Given the description of an element on the screen output the (x, y) to click on. 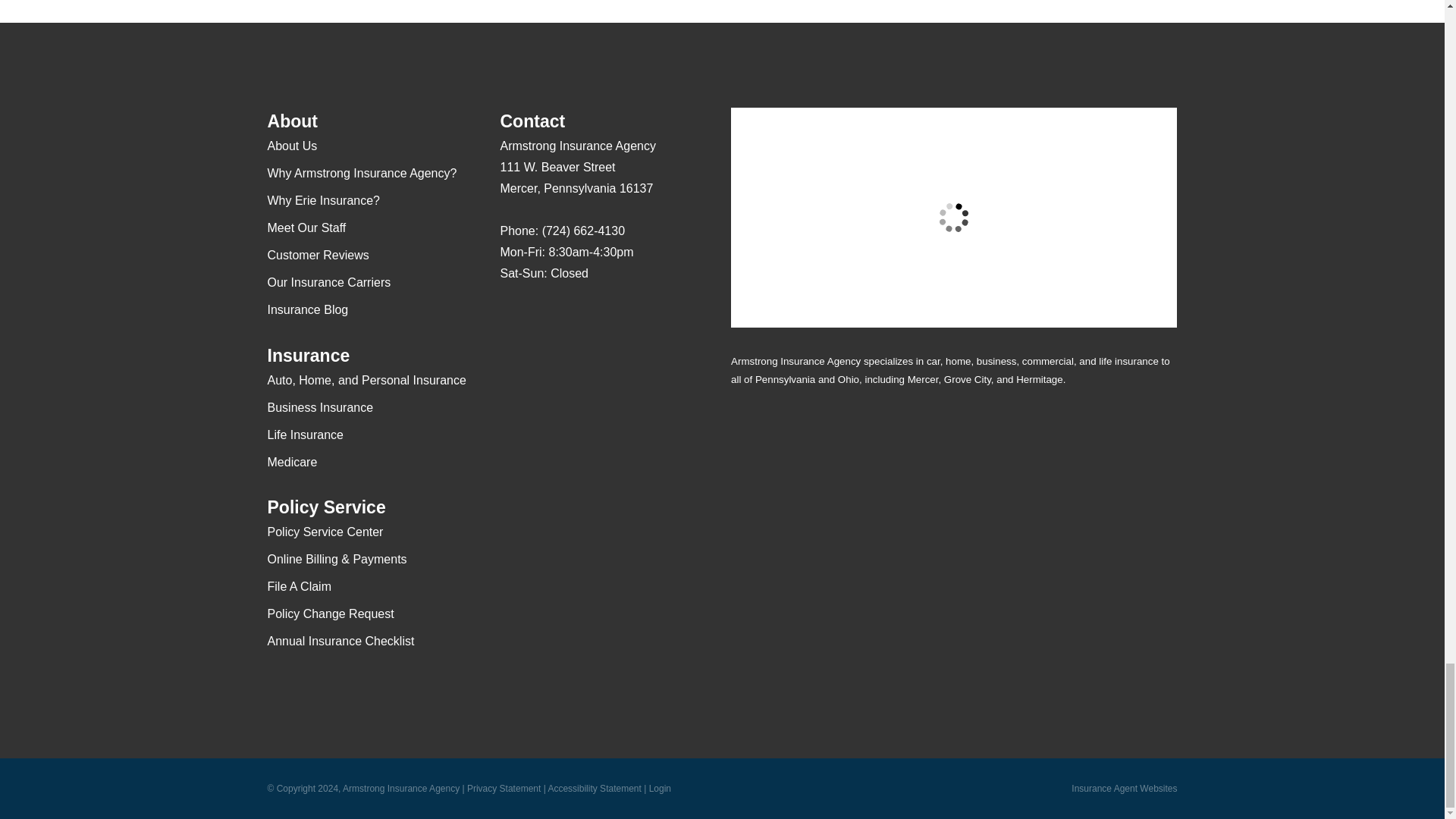
LinkedIn (600, 318)
Yelp (541, 318)
Google Maps (511, 318)
Facebook (571, 318)
Local Erie Insurance Agent (593, 411)
